Given the description of an element on the screen output the (x, y) to click on. 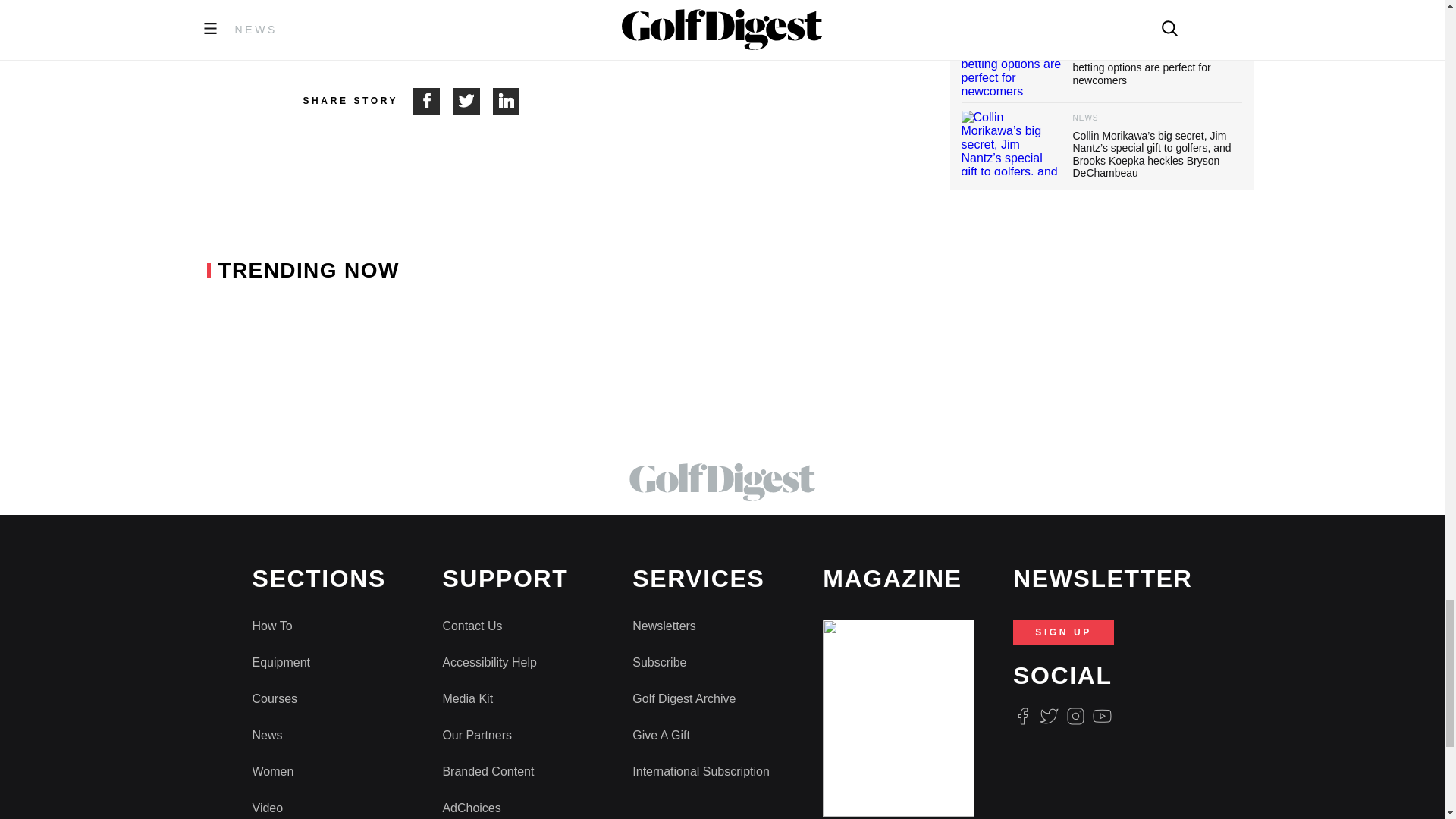
Facebook Logo (1022, 715)
Twitter Logo (1048, 715)
Instagram Logo (1074, 715)
Youtube Icon (1102, 715)
